Given the description of an element on the screen output the (x, y) to click on. 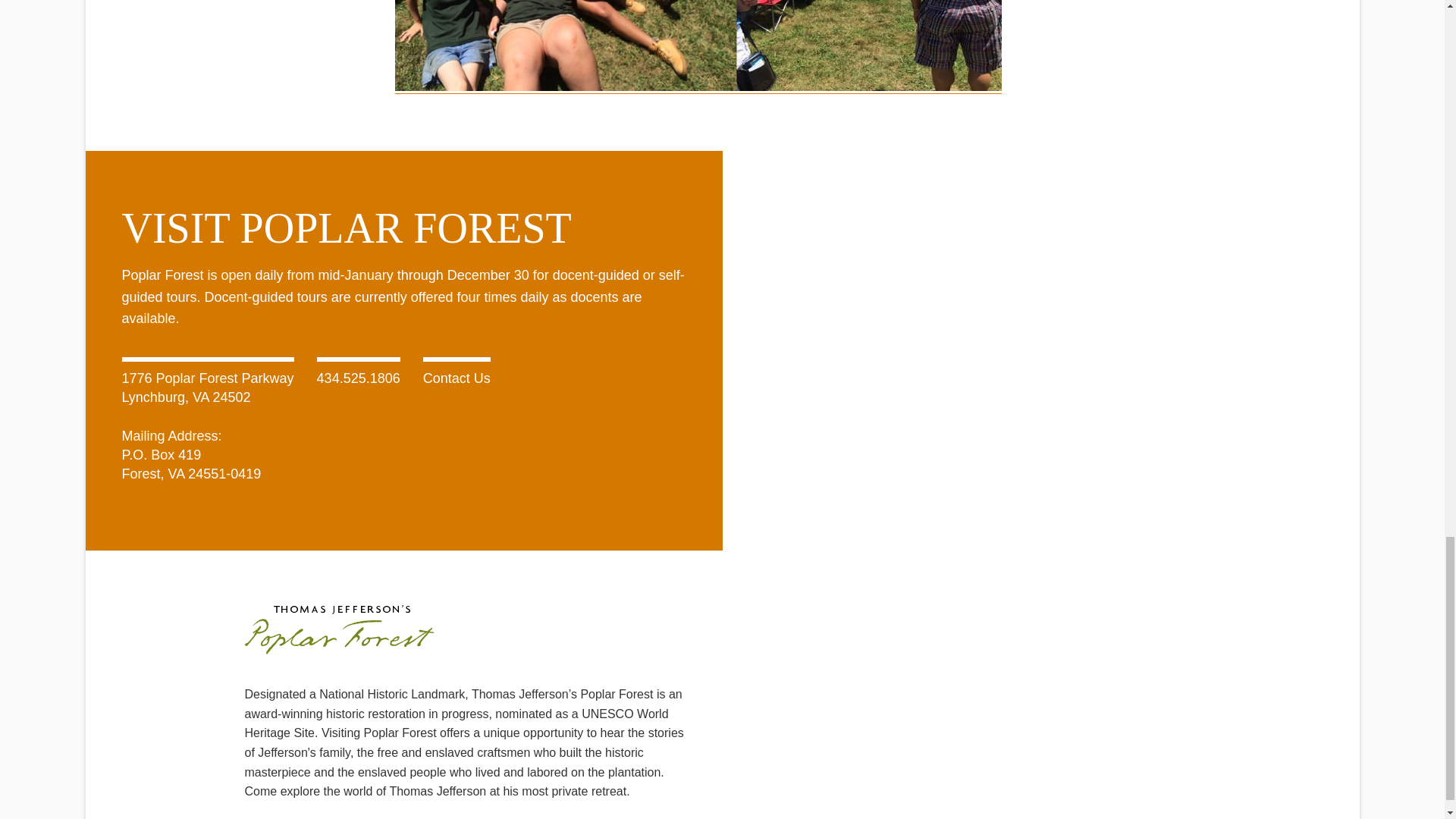
Contact Us (456, 378)
434.525.1806 (358, 378)
